Given the description of an element on the screen output the (x, y) to click on. 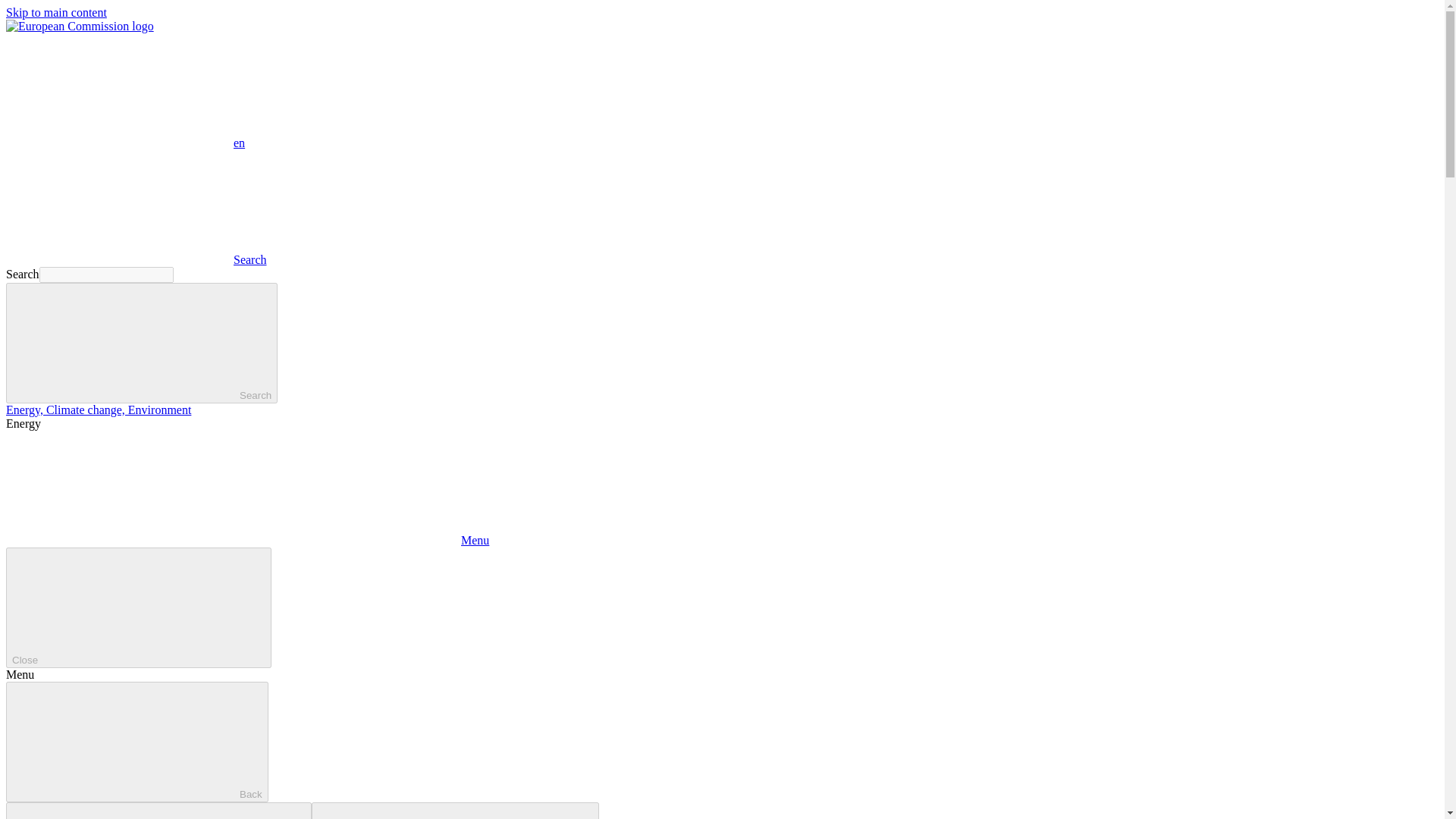
Menu (247, 540)
Energy, Climate change, Environment (97, 409)
European Commission (79, 25)
Close (137, 607)
Back (136, 741)
Next items (454, 810)
Search (141, 342)
Skip to main content (55, 11)
Search (135, 259)
Previous items (158, 810)
